Given the description of an element on the screen output the (x, y) to click on. 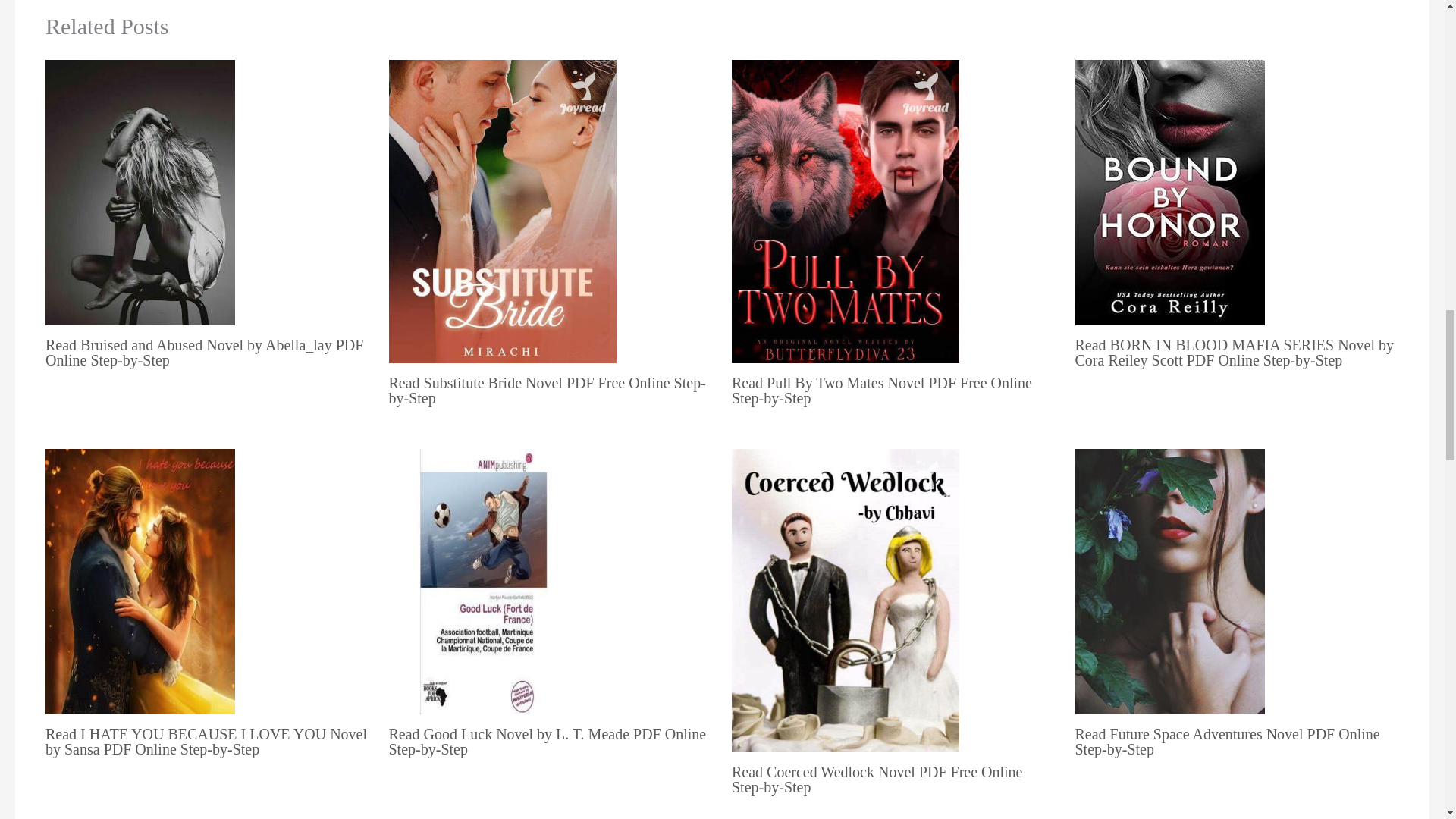
Read Substitute Bride Novel PDF Free Online Step-by-Step (546, 390)
Read Pull By Two Mates Novel PDF Free Online Step-by-Step (882, 390)
Read Future Space Adventures Novel PDF Online Step-by-Step (1227, 741)
Read Good Luck Novel by L. T. Meade PDF Online Step-by-Step (547, 741)
Read Coerced Wedlock Novel PDF Free Online Step-by-Step (877, 779)
